Given the description of an element on the screen output the (x, y) to click on. 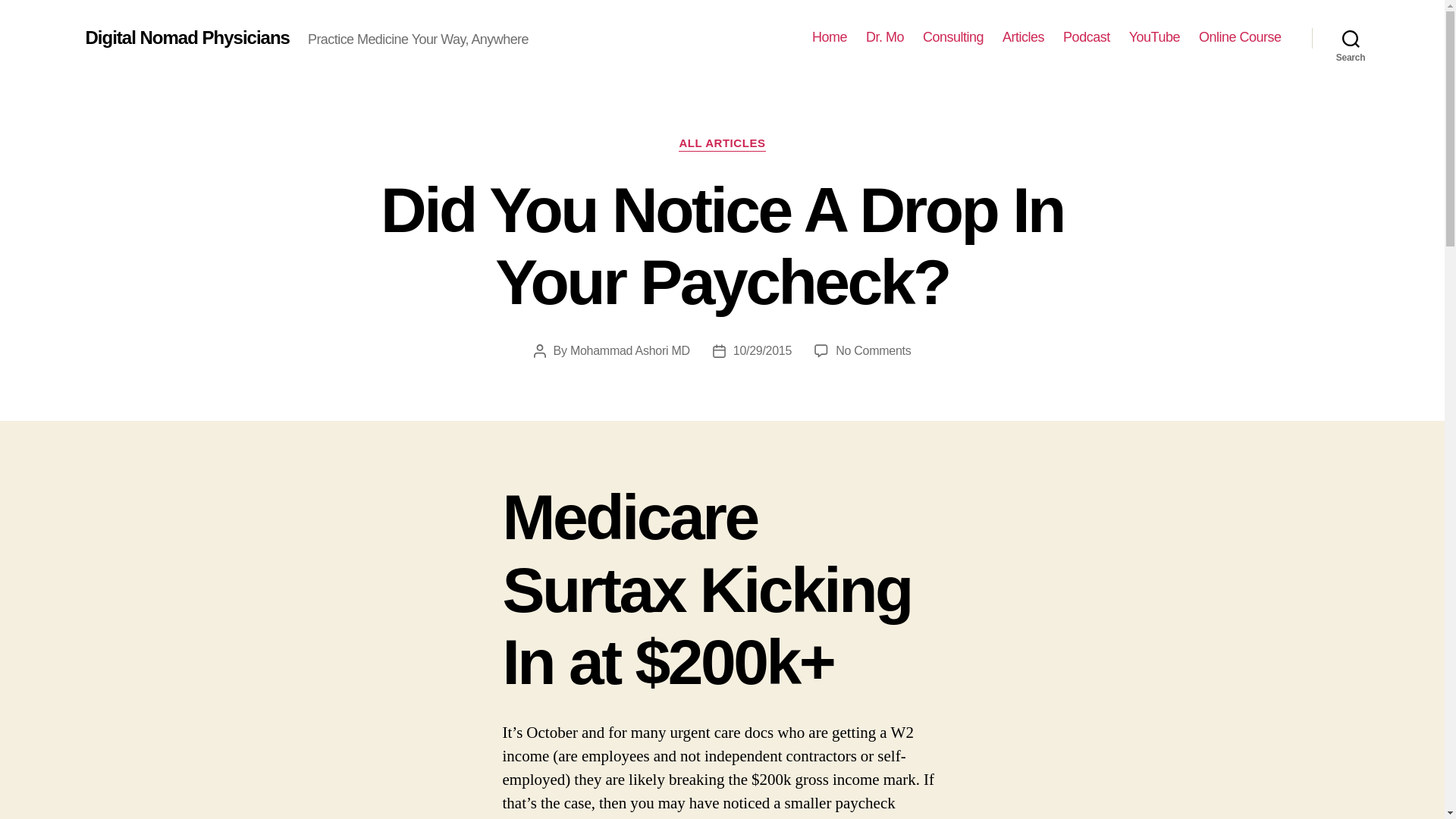
Dr. Mo (885, 37)
Online Course (1239, 37)
Digital Nomad Physicians (186, 37)
Mohammad Ashori MD (630, 350)
Podcast (1085, 37)
ALL ARTICLES (873, 350)
Search (721, 143)
Articles (1350, 37)
Consulting (1023, 37)
